Given the description of an element on the screen output the (x, y) to click on. 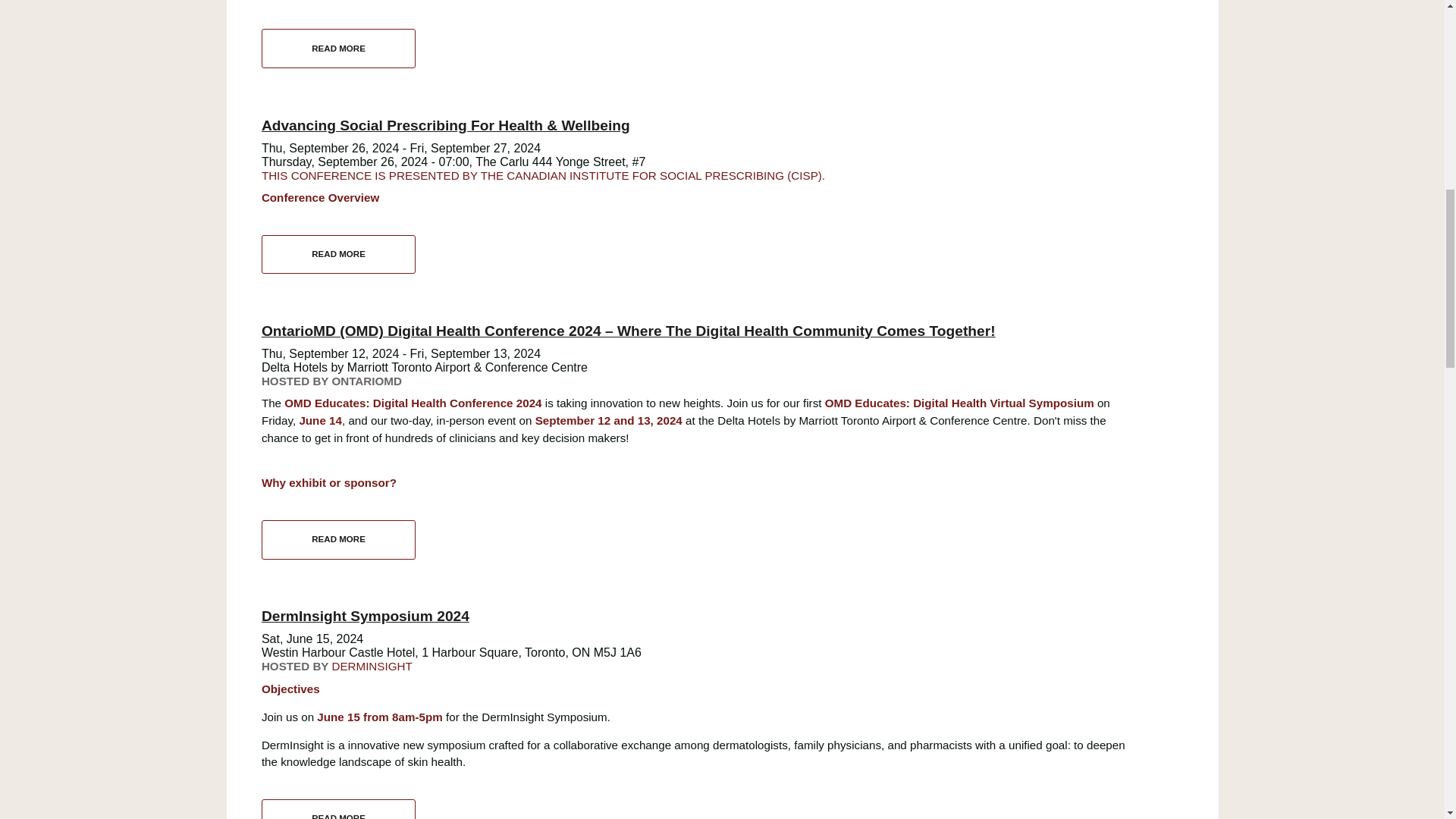
DermInsight Symposium 2024 (338, 809)
OMD Educates: Digital Health Conference 2024 (338, 809)
DermInsight Symposium 2024 (338, 47)
